Given the description of an element on the screen output the (x, y) to click on. 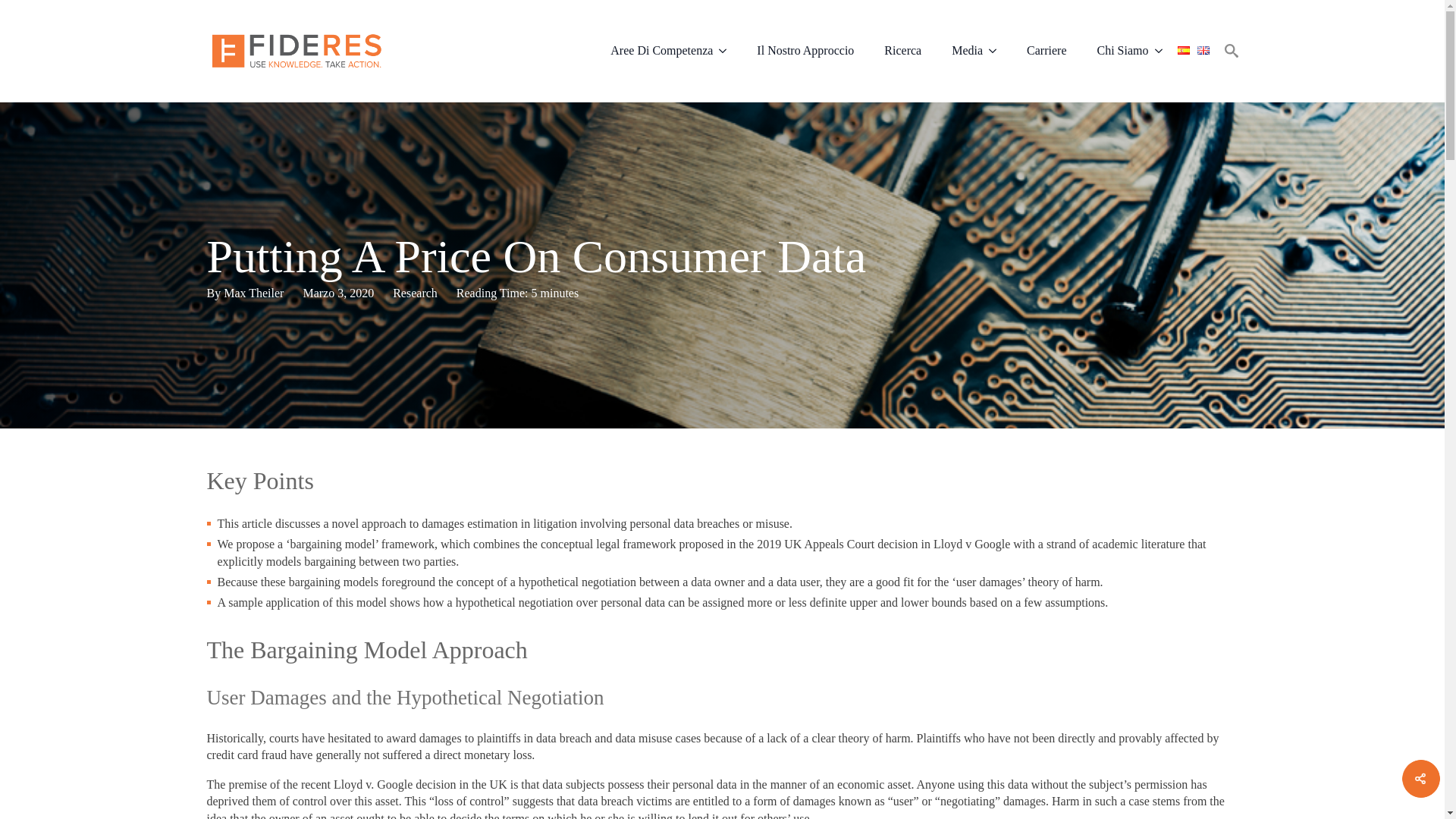
Chi Siamo (1114, 50)
Ricerca (902, 50)
Media (959, 50)
Aree Di Competenza (654, 50)
Il Nostro Approccio (805, 50)
Carriere (1046, 50)
